Given the description of an element on the screen output the (x, y) to click on. 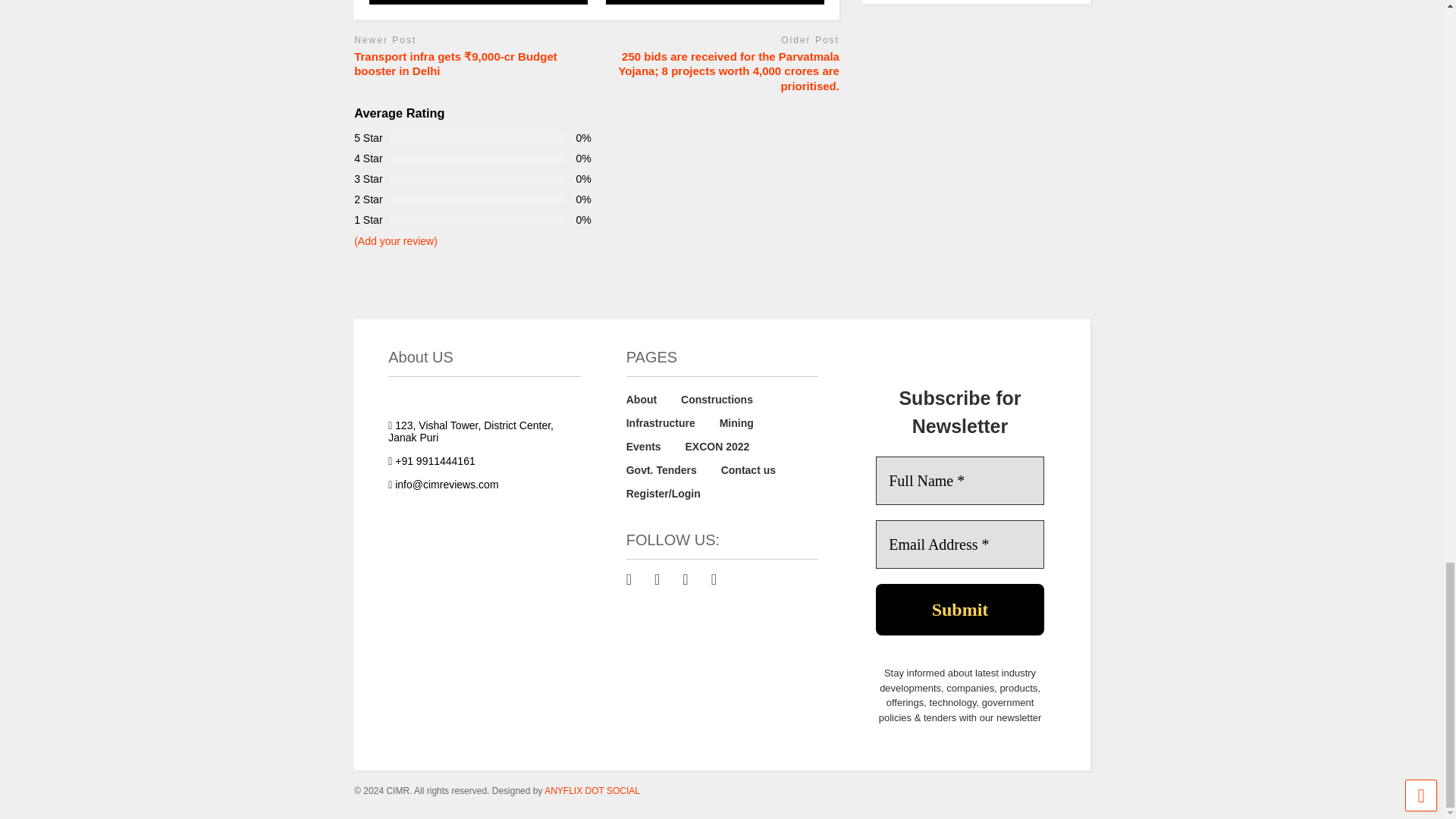
Click to read (478, 2)
Submit (959, 609)
Click to read (714, 2)
